Given the description of an element on the screen output the (x, y) to click on. 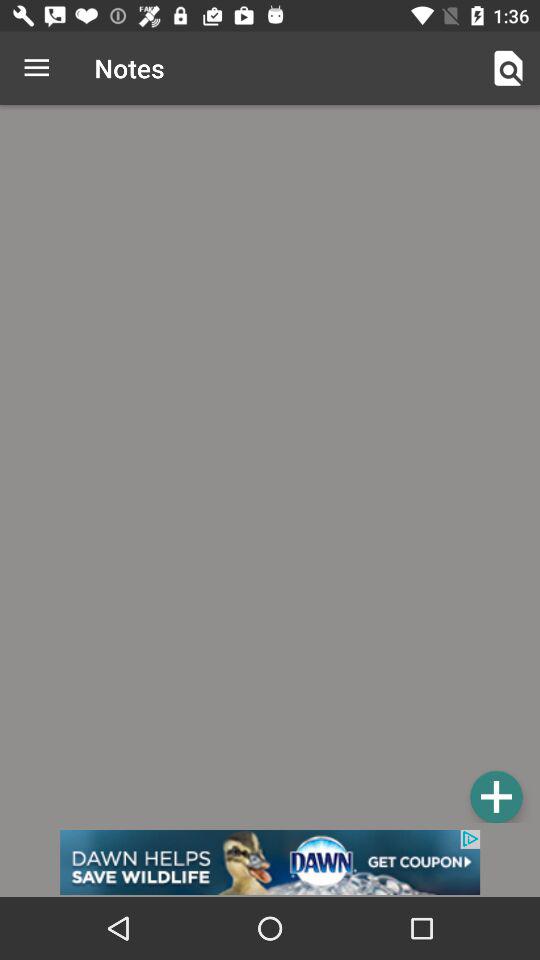
add note (496, 796)
